Given the description of an element on the screen output the (x, y) to click on. 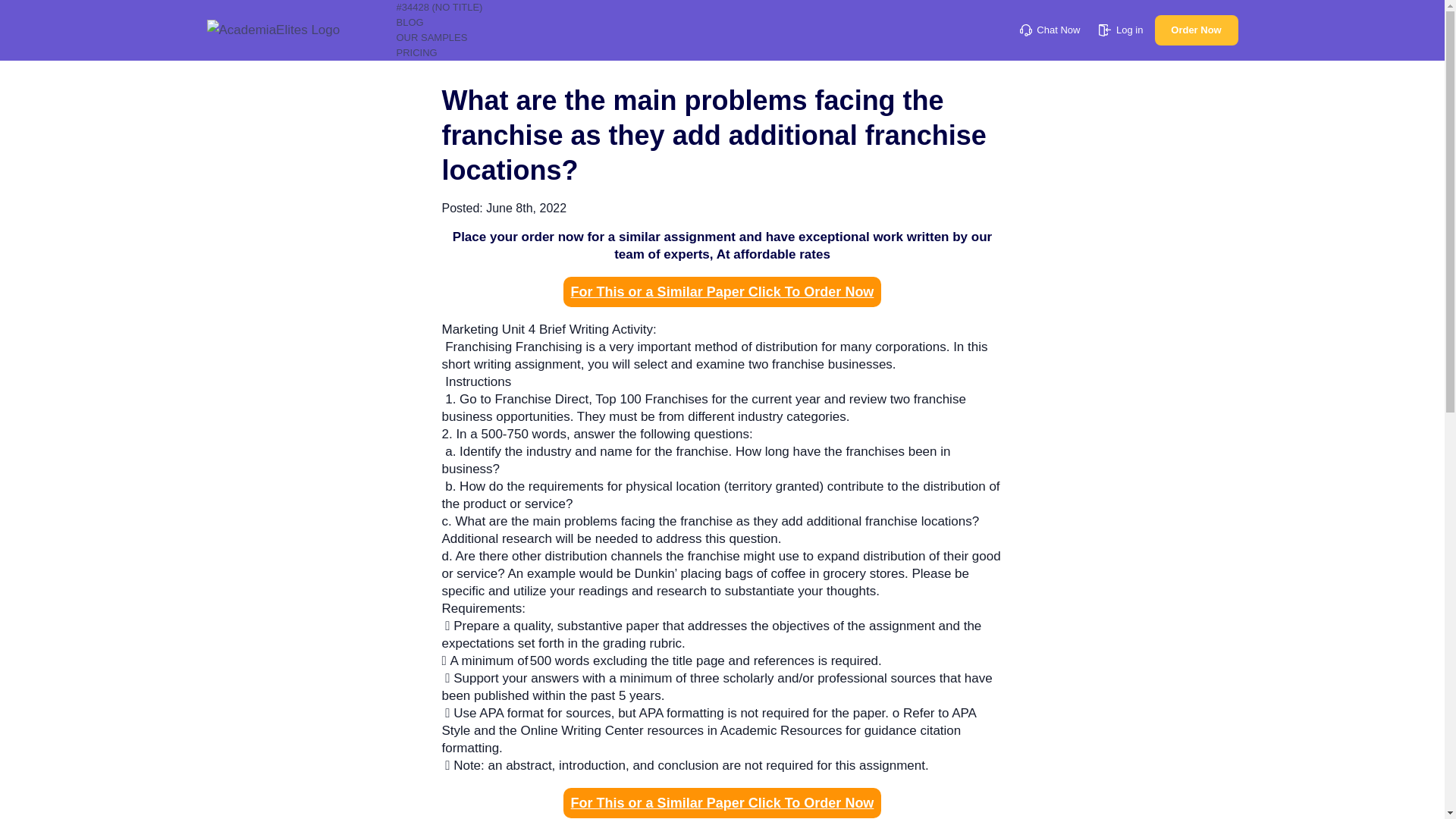
For This or a Similar Paper Click To Order Now (722, 802)
For This or a Similar Paper Click To Order Now (722, 291)
BLOG (409, 21)
Chat Now (1050, 30)
Log in (1120, 30)
Order Now (1195, 30)
OUR SAMPLES (431, 37)
PRICING (416, 52)
